Given the description of an element on the screen output the (x, y) to click on. 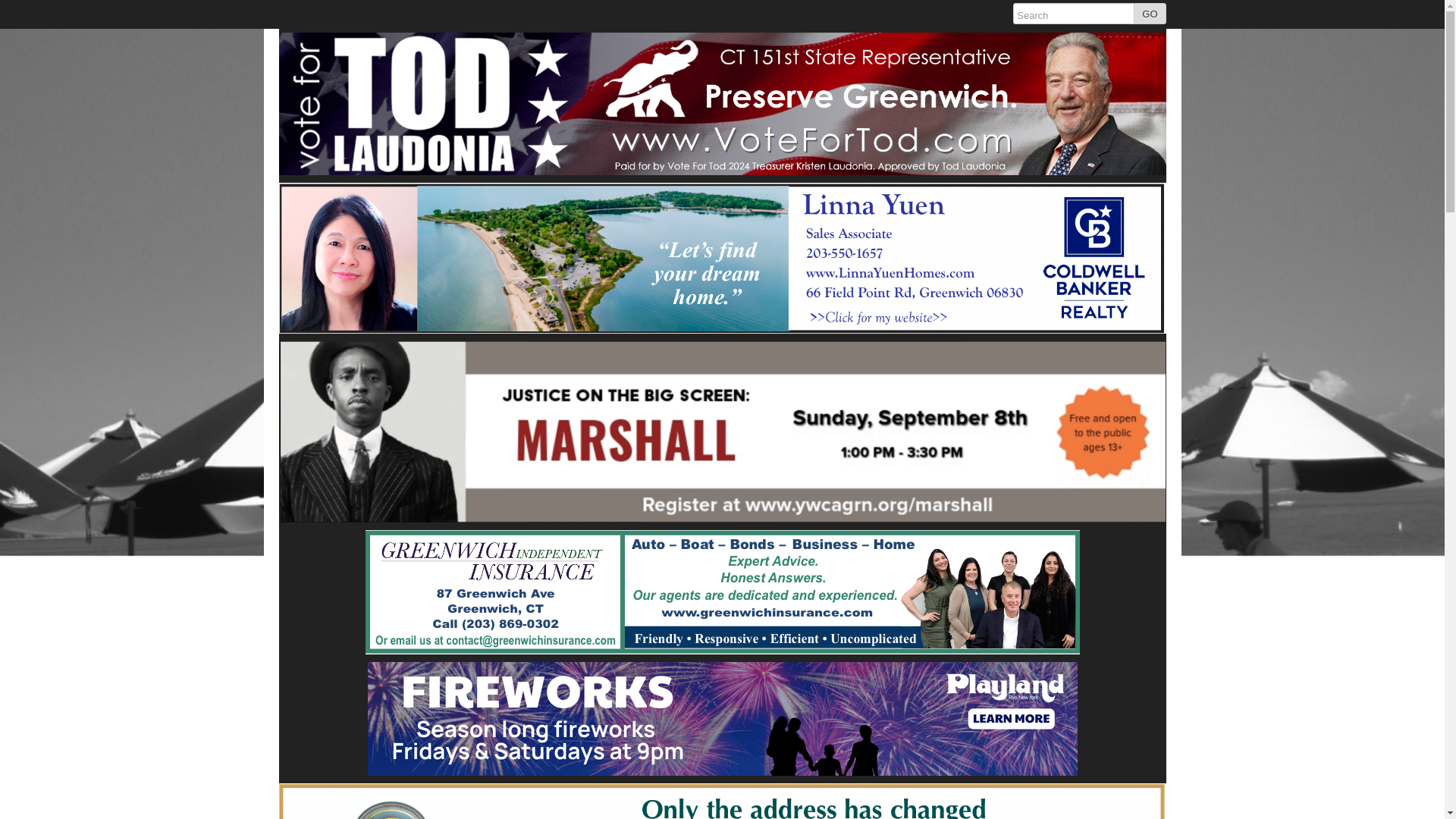
GO (1150, 13)
Playland fireworks, August 2024 (721, 718)
Fred D Knapp Funeral Home (722, 799)
